Given the description of an element on the screen output the (x, y) to click on. 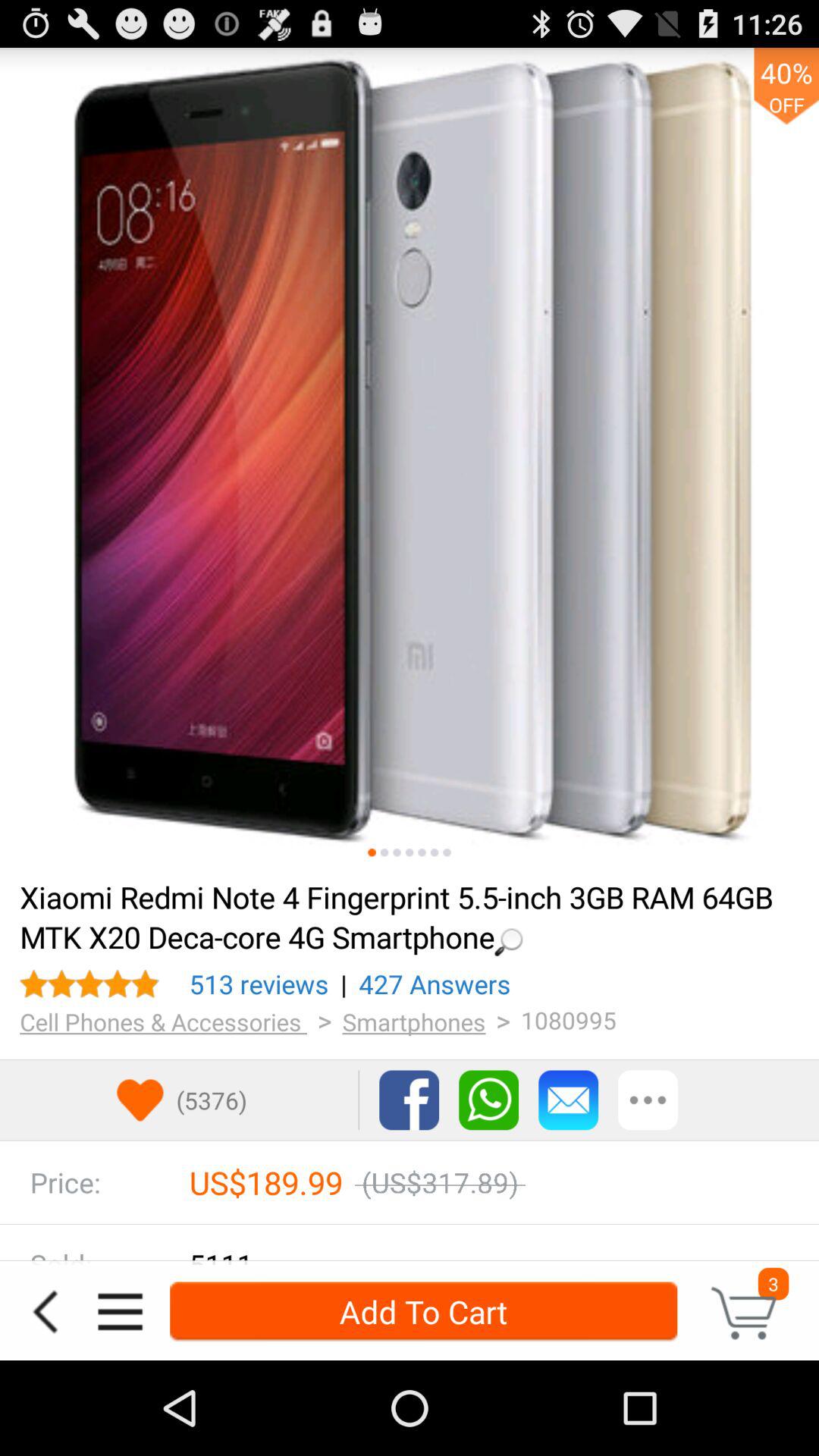
go back (45, 1311)
